Given the description of an element on the screen output the (x, y) to click on. 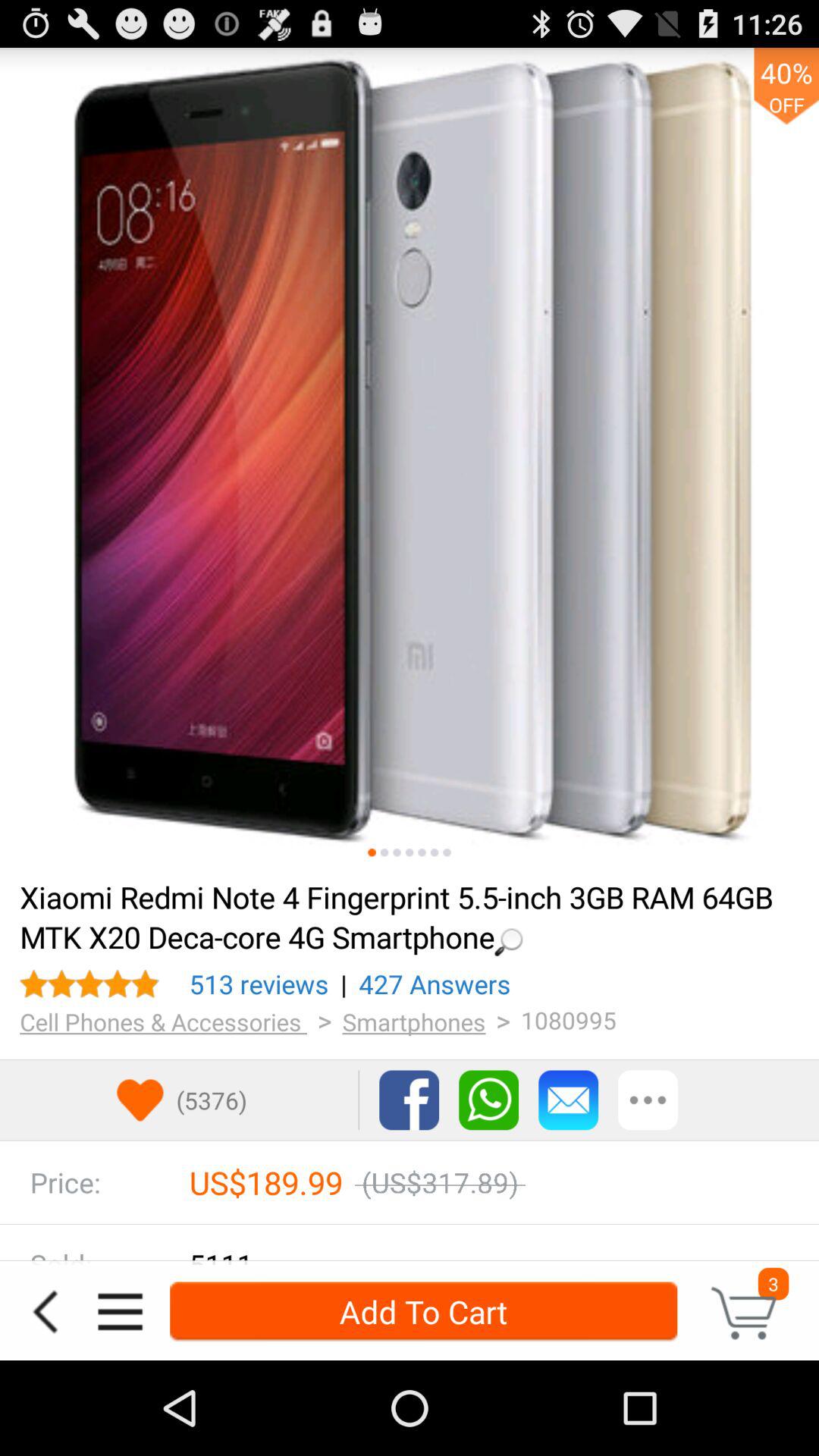
go back (45, 1311)
